Given the description of an element on the screen output the (x, y) to click on. 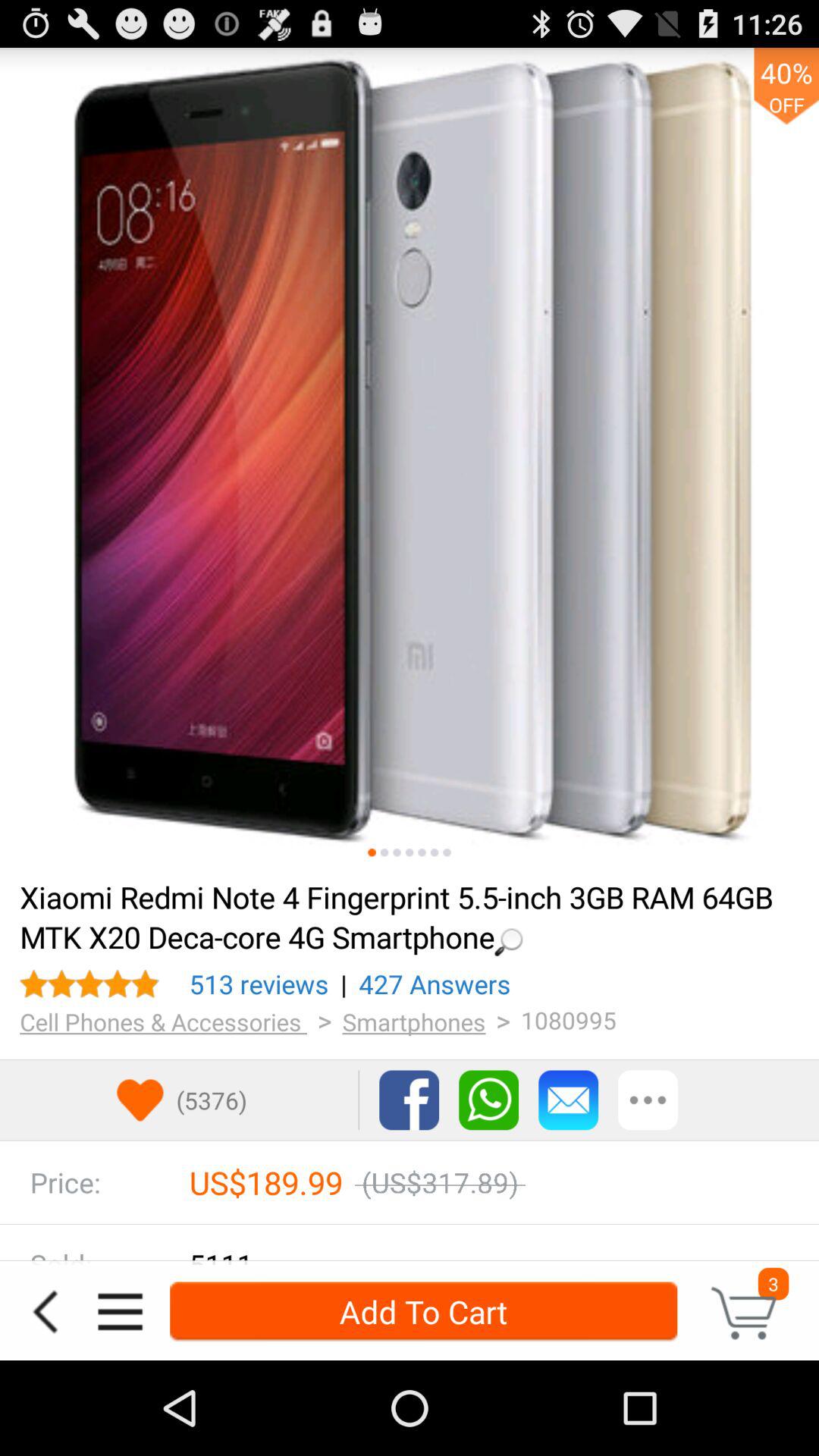
go back (45, 1311)
